Given the description of an element on the screen output the (x, y) to click on. 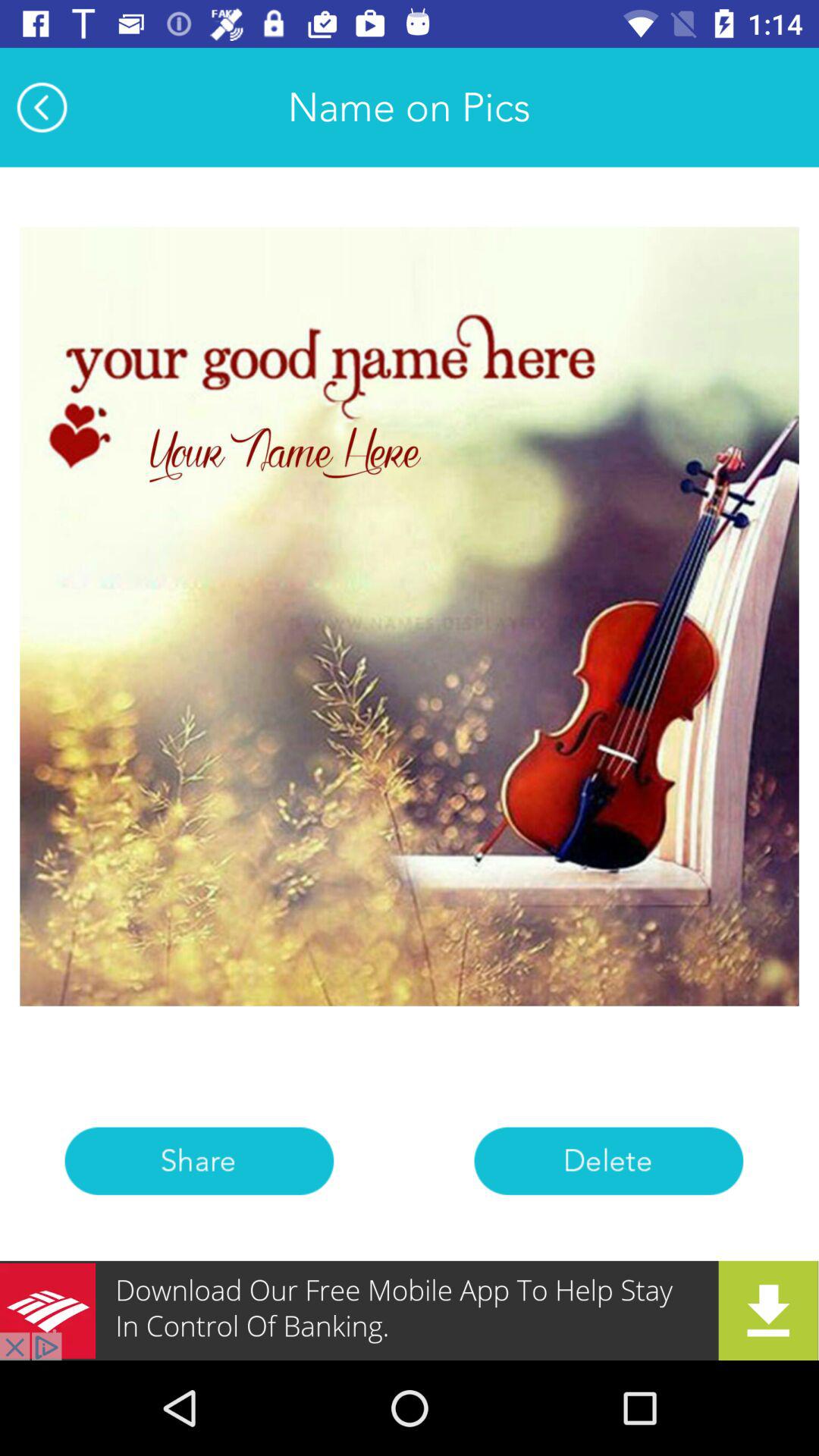
open bank of america app page (409, 1310)
